Given the description of an element on the screen output the (x, y) to click on. 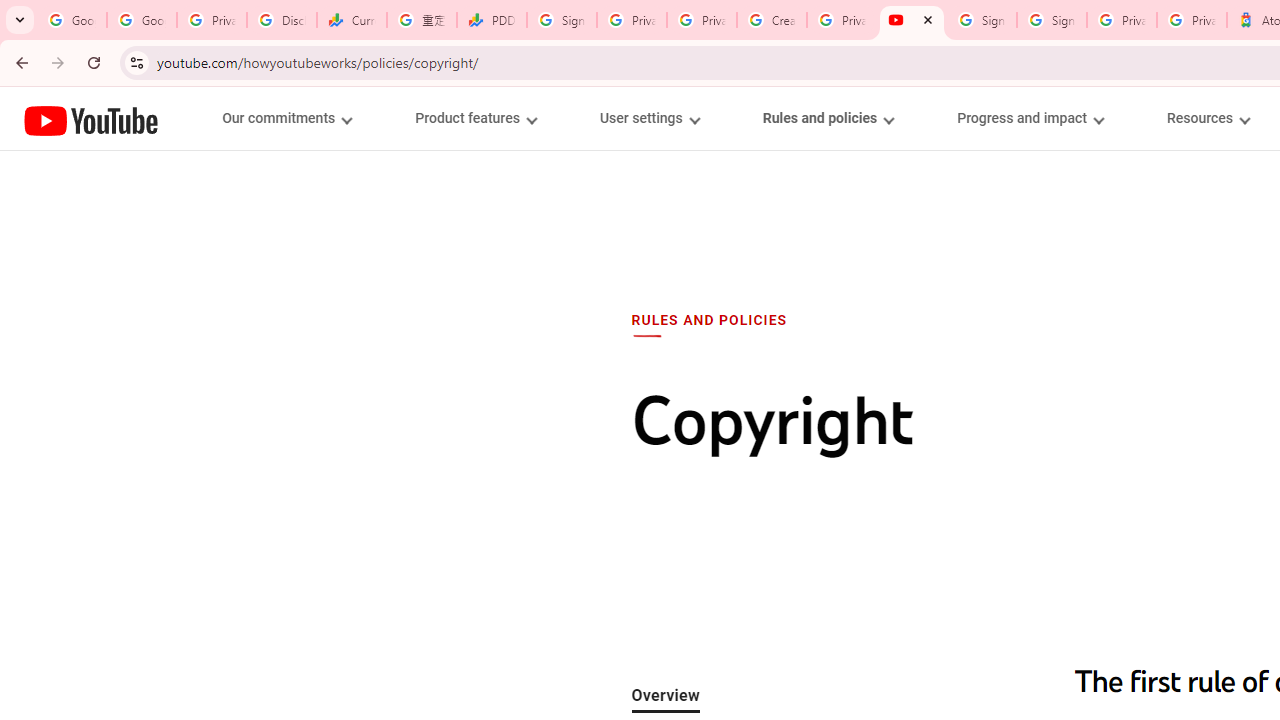
Create your Google Account (772, 20)
JUMP TO CONTENT (209, 119)
Sign in - Google Accounts (1051, 20)
Currencies - Google Finance (351, 20)
PDD Holdings Inc - ADR (PDD) Price & News - Google Finance (492, 20)
How YouTube Works (91, 118)
